Given the description of an element on the screen output the (x, y) to click on. 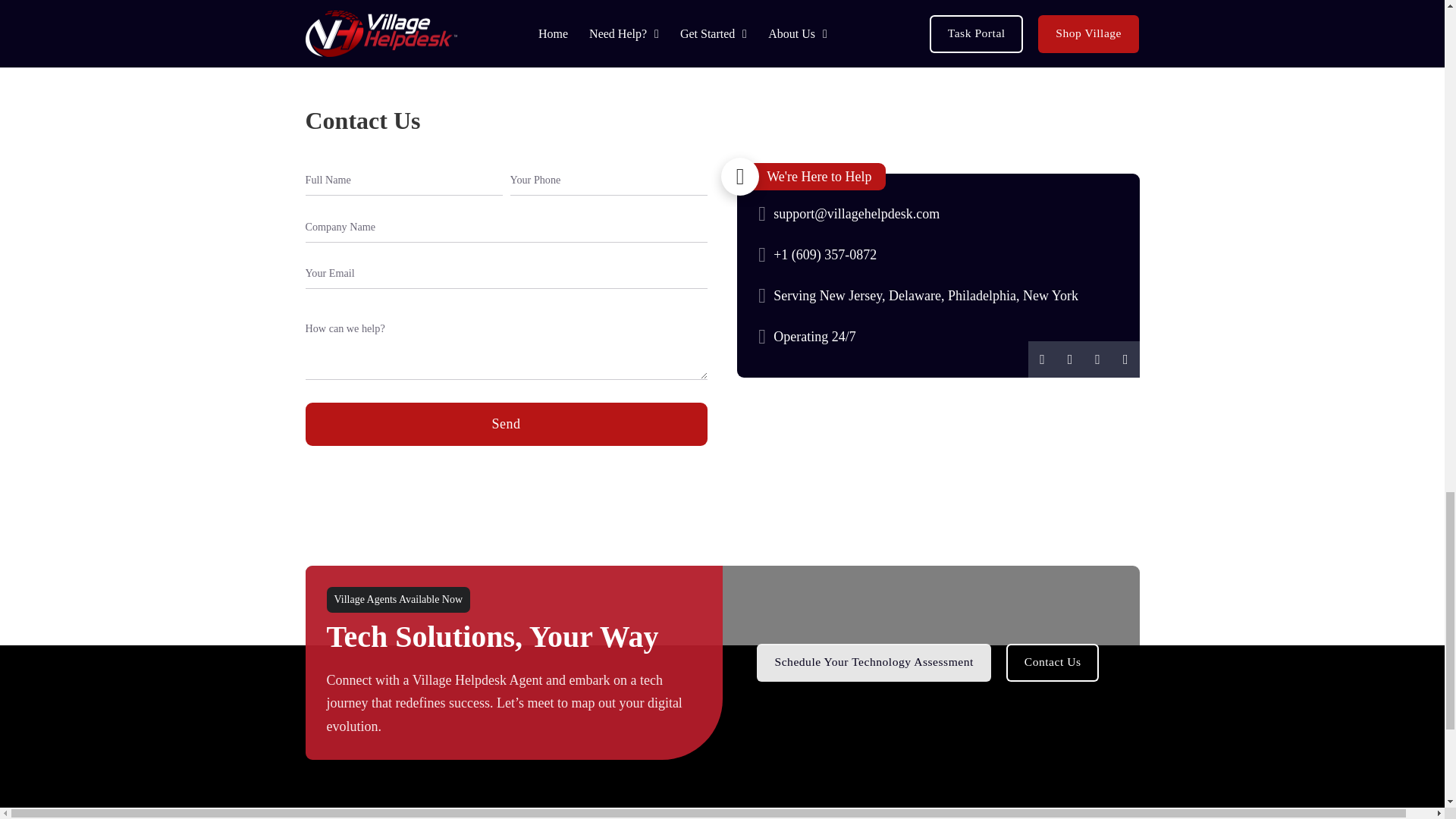
Send (505, 423)
